Given the description of an element on the screen output the (x, y) to click on. 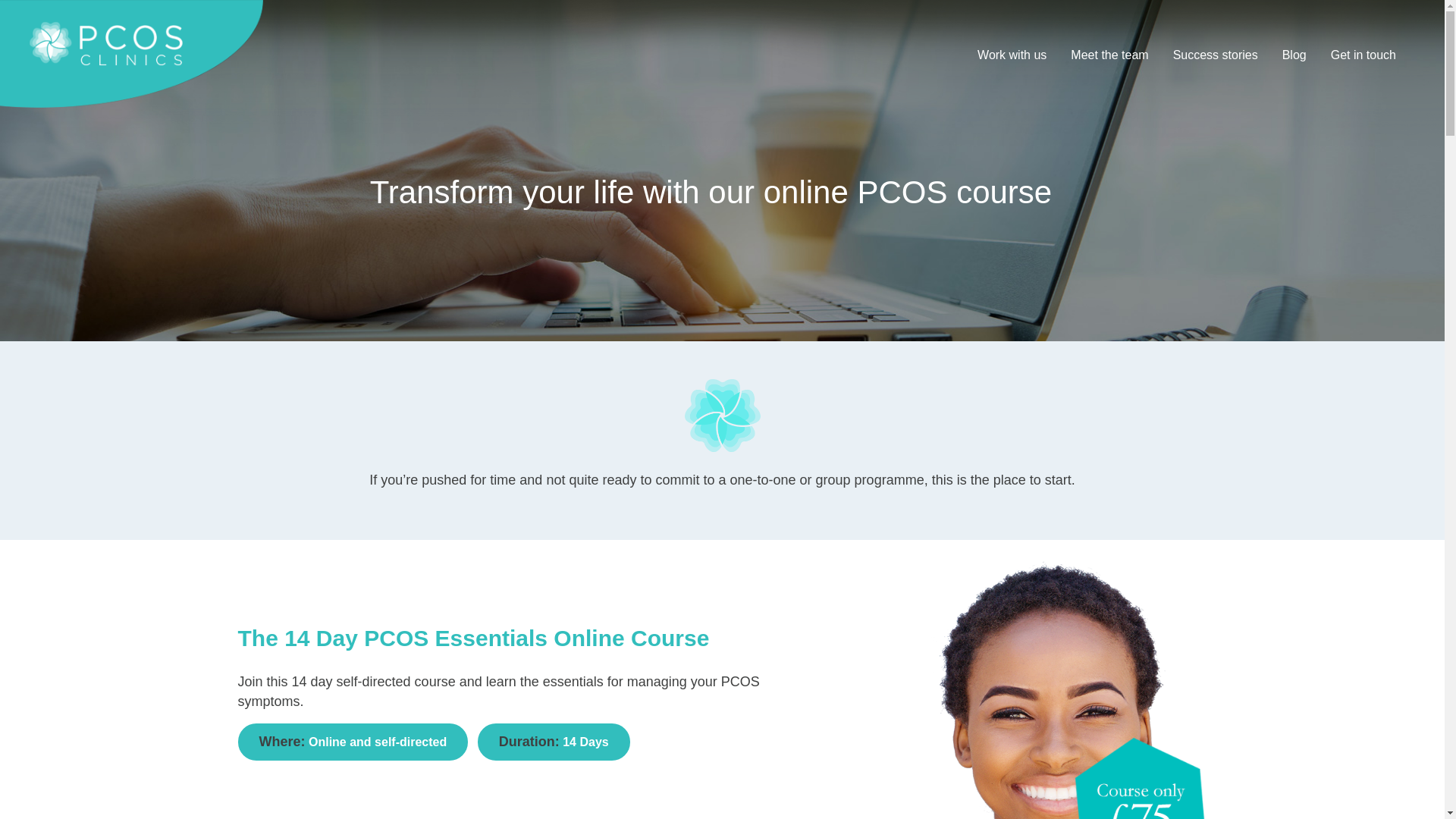
Get in touch (1363, 55)
Blog (1294, 55)
Meet the team (1109, 55)
Success stories (1215, 55)
Work with us (1011, 55)
